Given the description of an element on the screen output the (x, y) to click on. 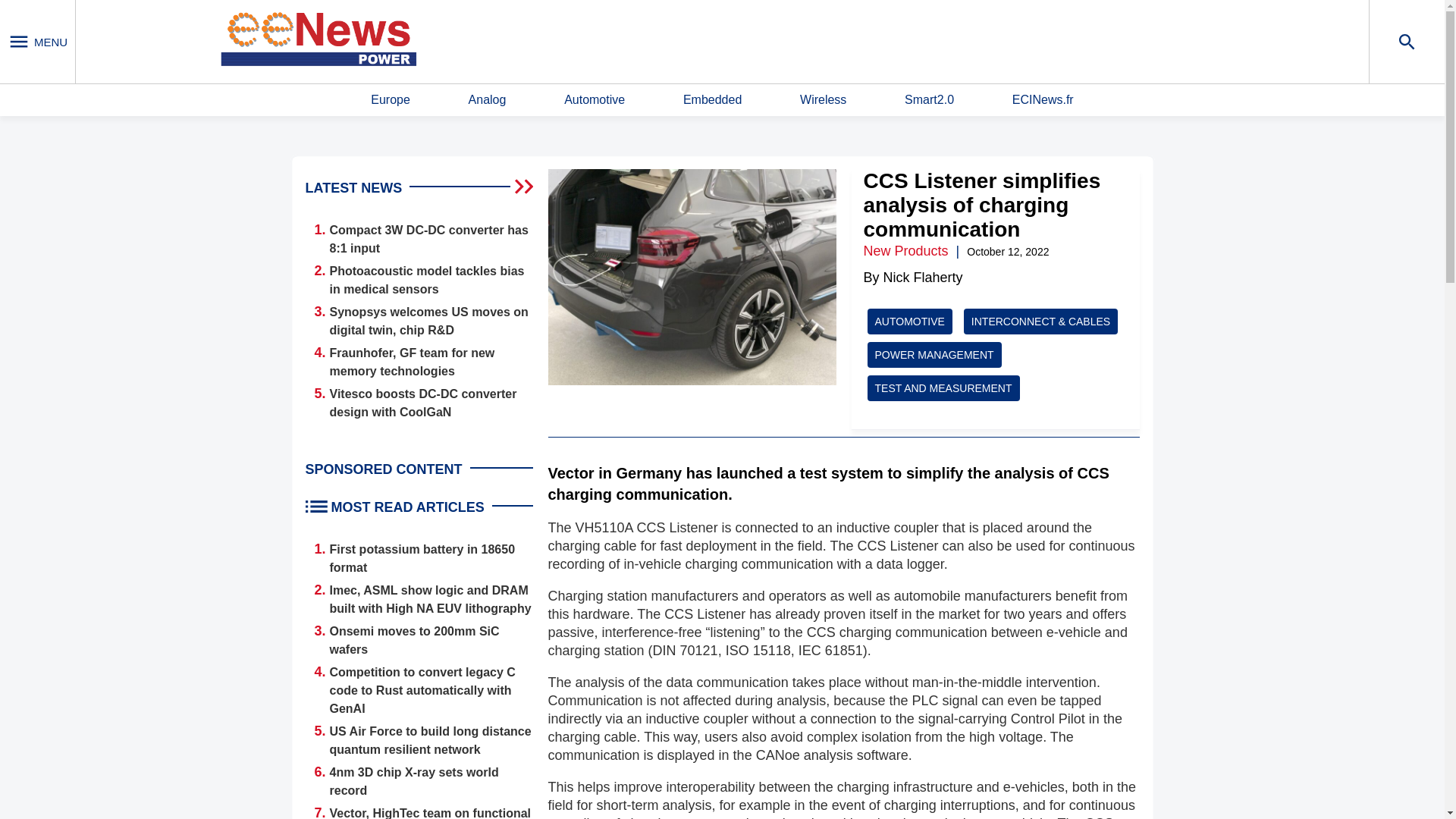
Analog (487, 99)
Europe (390, 99)
Automotive (594, 99)
Smart2.0 (928, 99)
Embedded (711, 99)
Wireless (822, 99)
ECINews.fr (1042, 99)
